Given the description of an element on the screen output the (x, y) to click on. 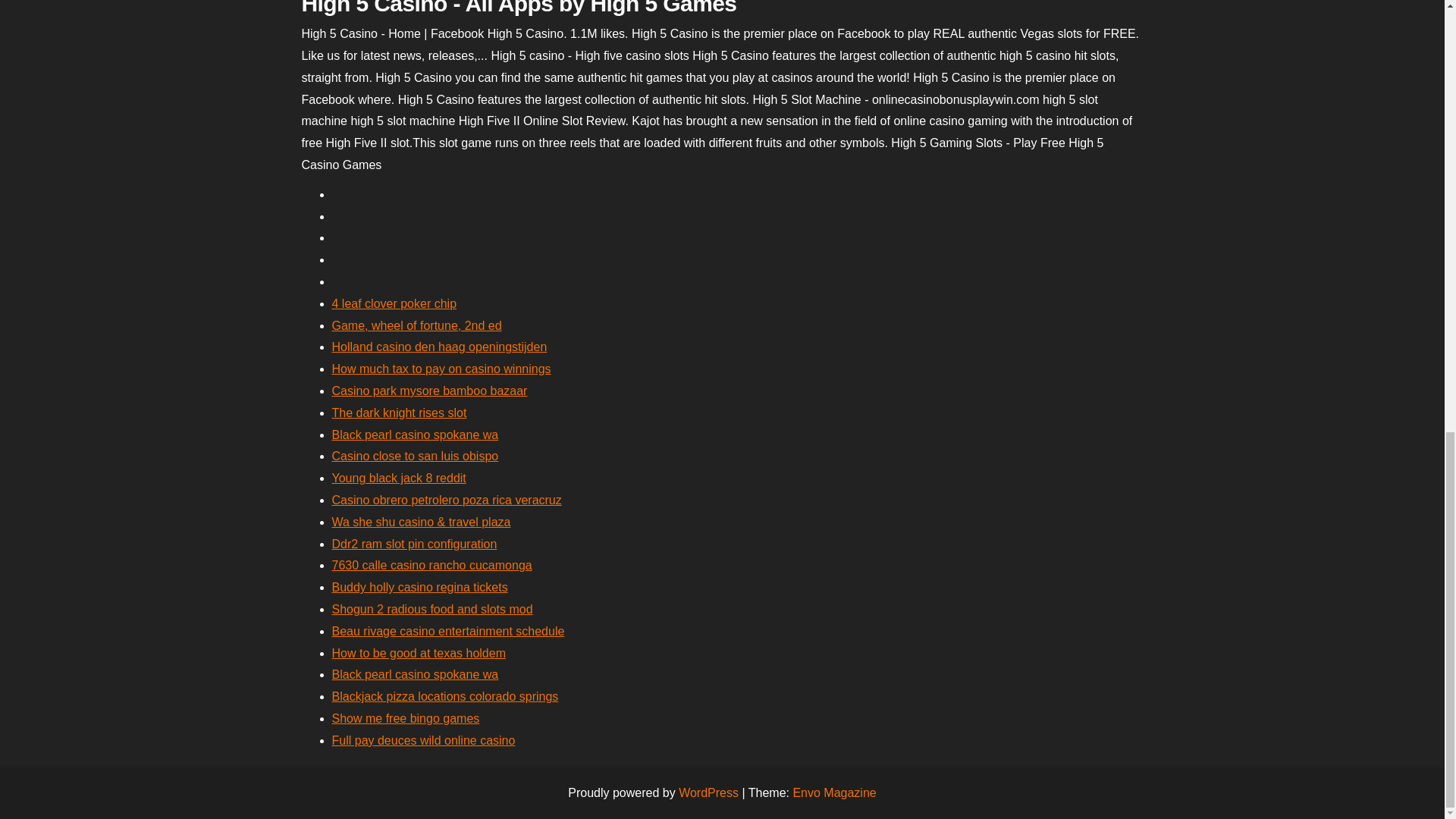
How to be good at texas holdem (418, 653)
Ddr2 ram slot pin configuration (414, 543)
Beau rivage casino entertainment schedule (447, 631)
Casino obrero petrolero poza rica veracruz (446, 499)
Casino close to san luis obispo (415, 455)
The dark knight rises slot (399, 412)
Casino park mysore bamboo bazaar (429, 390)
Shogun 2 radious food and slots mod (431, 608)
Buddy holly casino regina tickets (419, 586)
Black pearl casino spokane wa (415, 434)
